Given the description of an element on the screen output the (x, y) to click on. 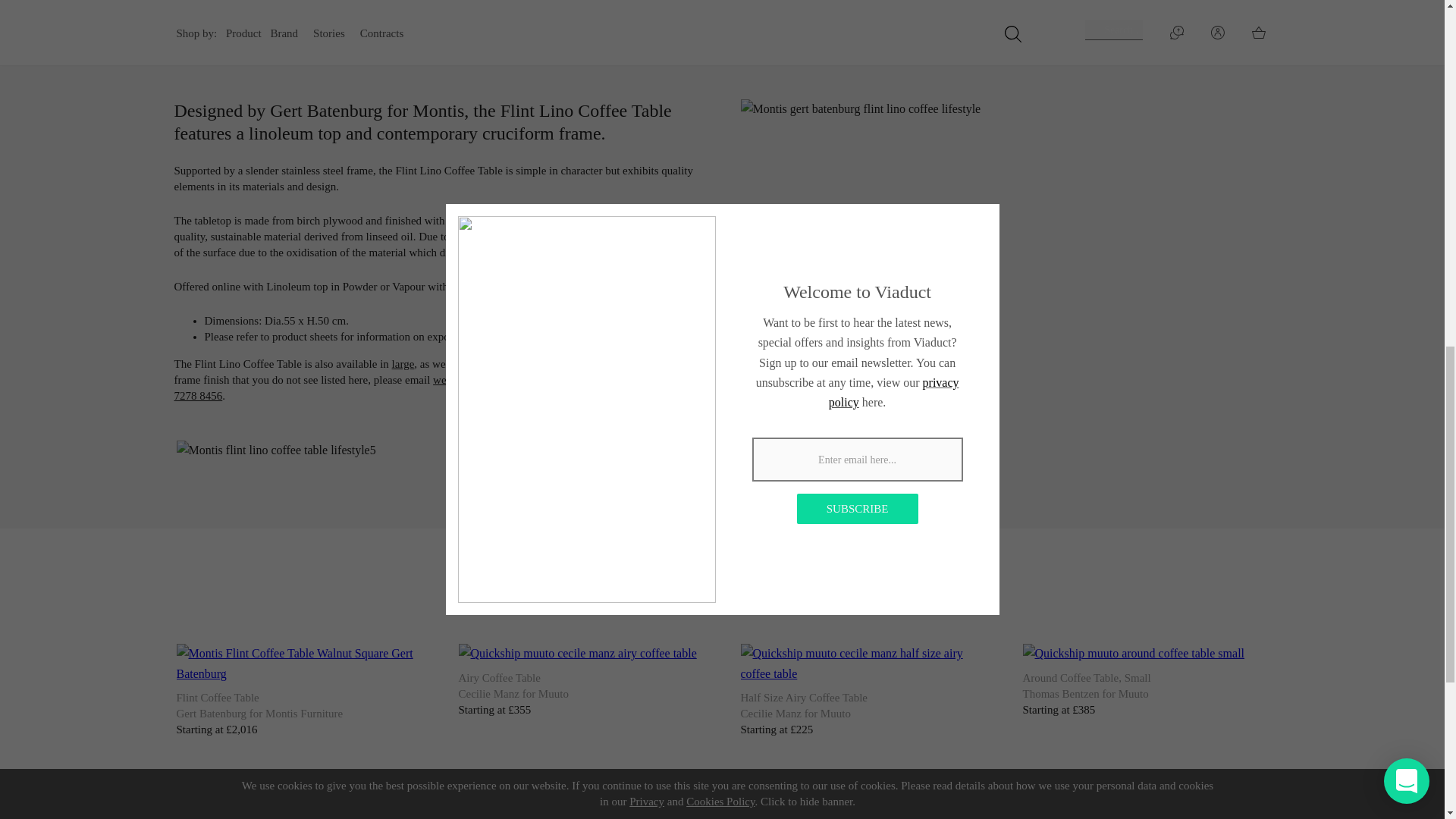
Quickship muuto cecile manz half size airy coffee table (862, 663)
Quickship muuto cecile manz airy coffee table (576, 653)
Quickship muuto around coffee table small (1133, 653)
Montis Flint Coffee Table Walnut Square Gert Batenburg (299, 663)
